Given the description of an element on the screen output the (x, y) to click on. 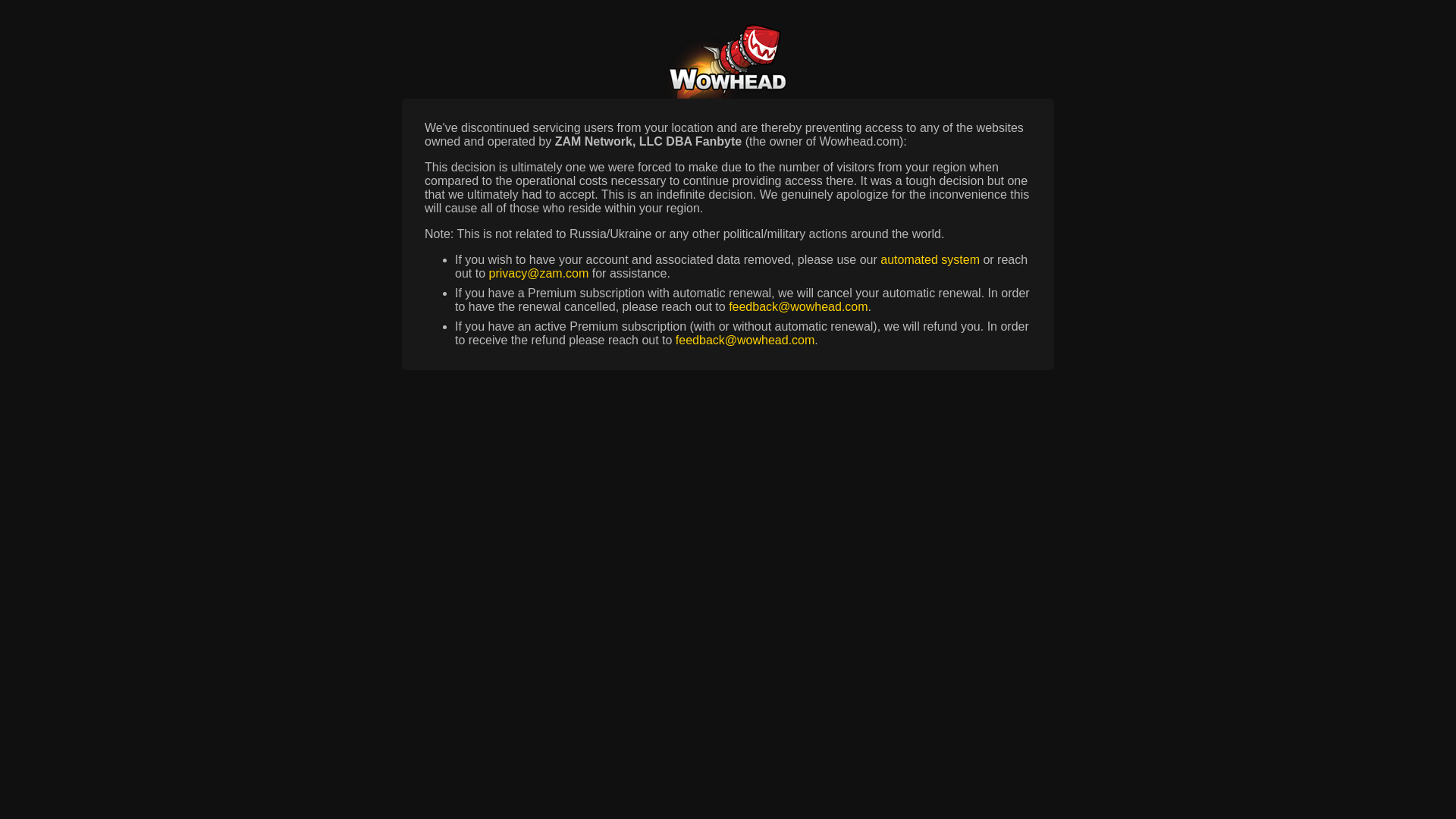
automated system (929, 259)
